Given the description of an element on the screen output the (x, y) to click on. 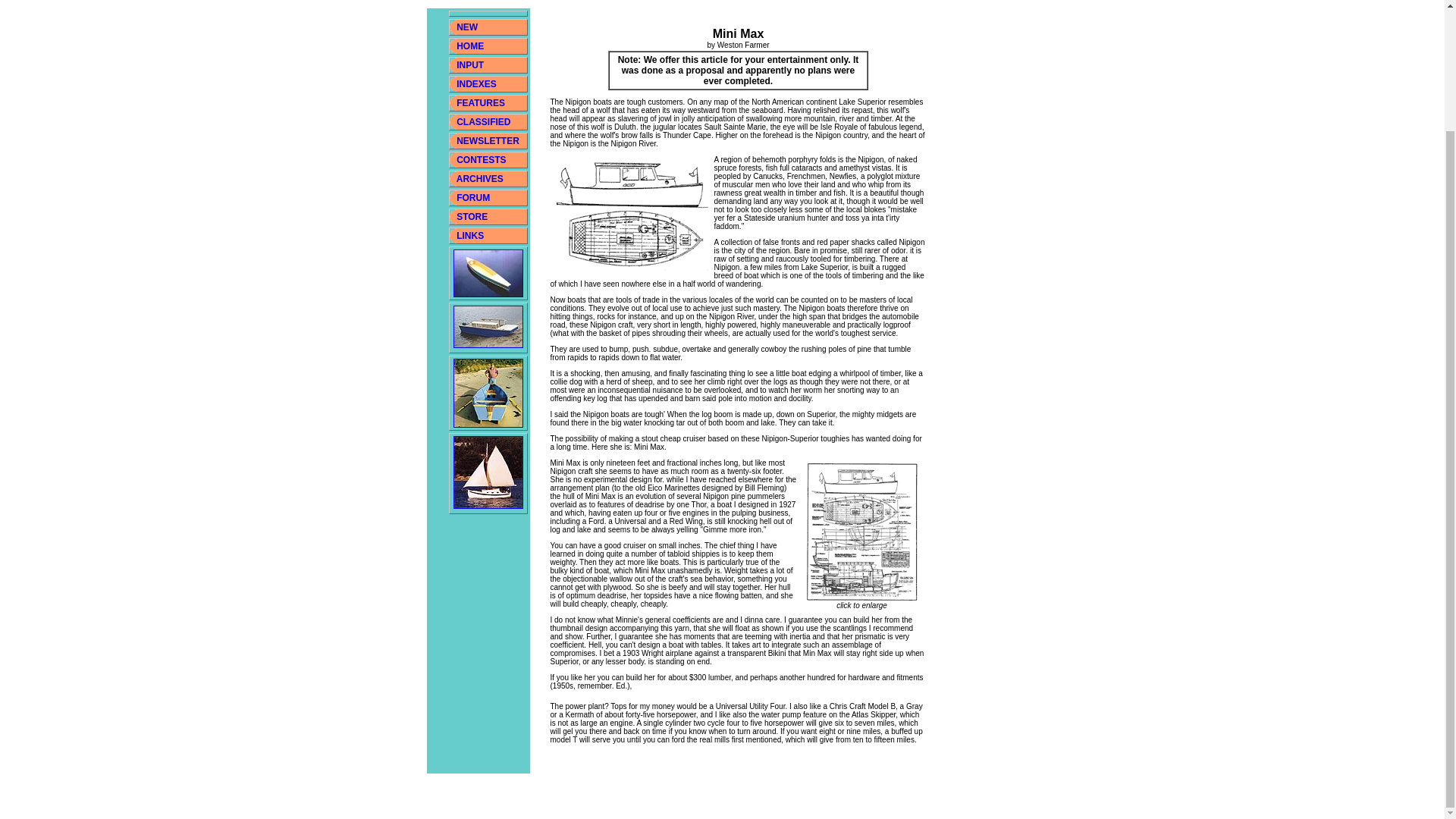
ARCHIVES (480, 178)
 LINKS (468, 235)
CONTESTS (481, 159)
STORE (472, 216)
HOME (470, 45)
INPUT (470, 64)
NEW (467, 27)
Advertisement (702, 4)
NEWSLETTER (488, 140)
CLASSIFIED (484, 122)
FEATURES (481, 102)
FORUM (473, 197)
INDEXES (476, 83)
